Given the description of an element on the screen output the (x, y) to click on. 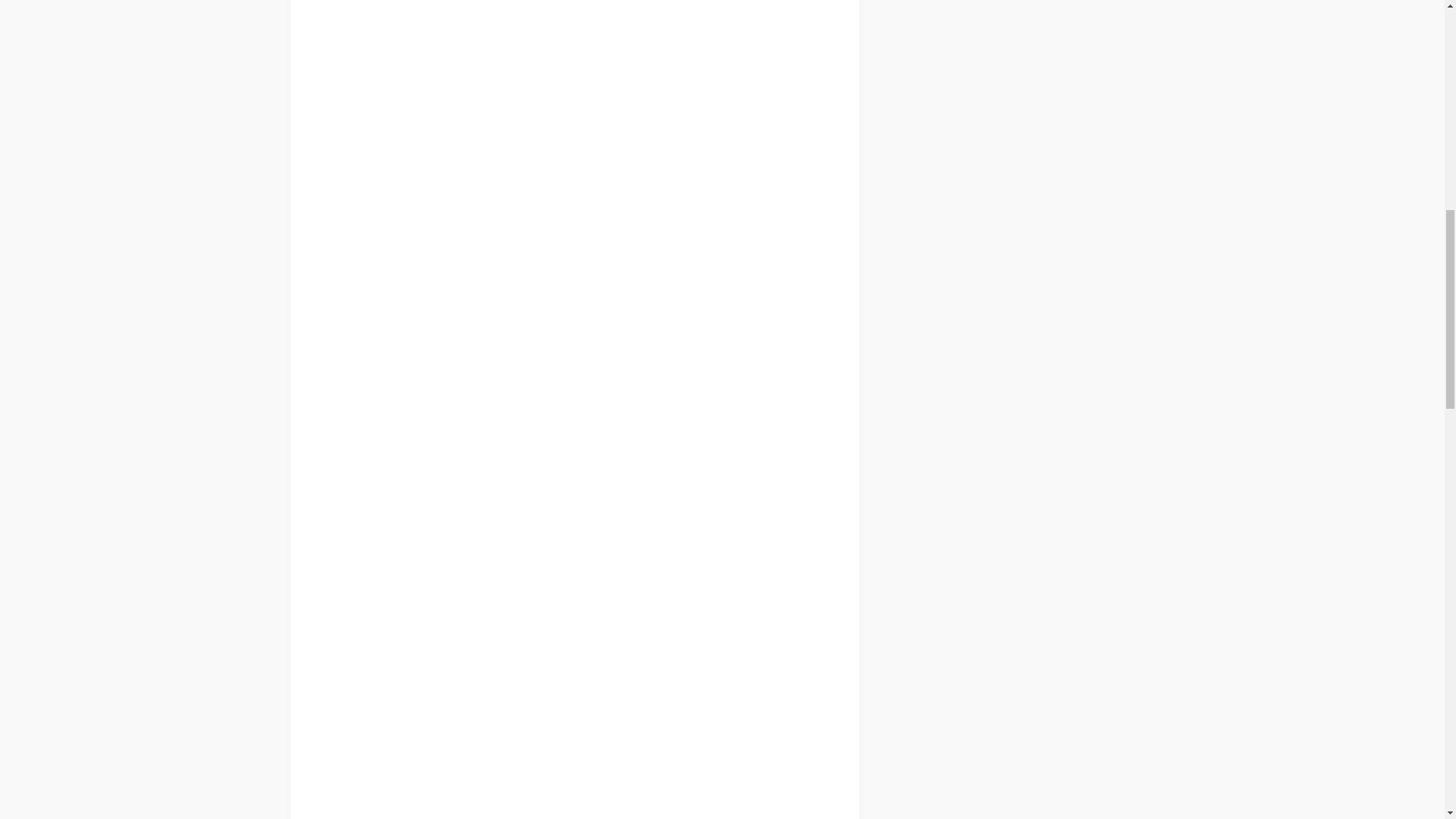
rockchip 2 (493, 300)
rockchip 3 (347, 439)
rockchip 5 (347, 666)
rockchip (347, 771)
rockchip 1 (494, 147)
rockchip  4 (347, 552)
